Given the description of an element on the screen output the (x, y) to click on. 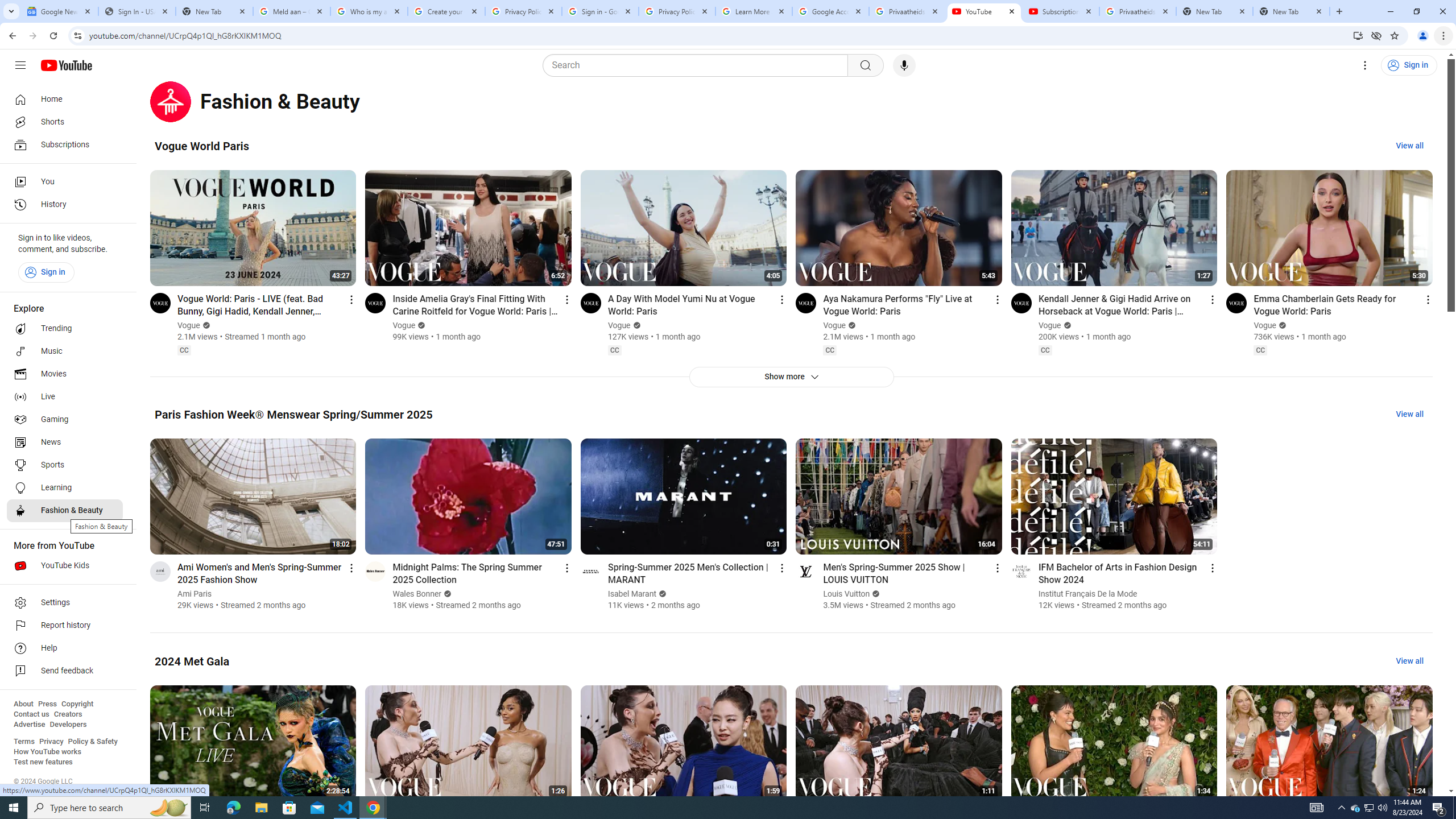
2024 Met Gala (192, 660)
Advertise (29, 724)
Copyright (77, 703)
Report history (64, 625)
Show more (790, 376)
Privacy (51, 741)
Google News (59, 11)
Subscriptions - YouTube (1061, 11)
